Given the description of an element on the screen output the (x, y) to click on. 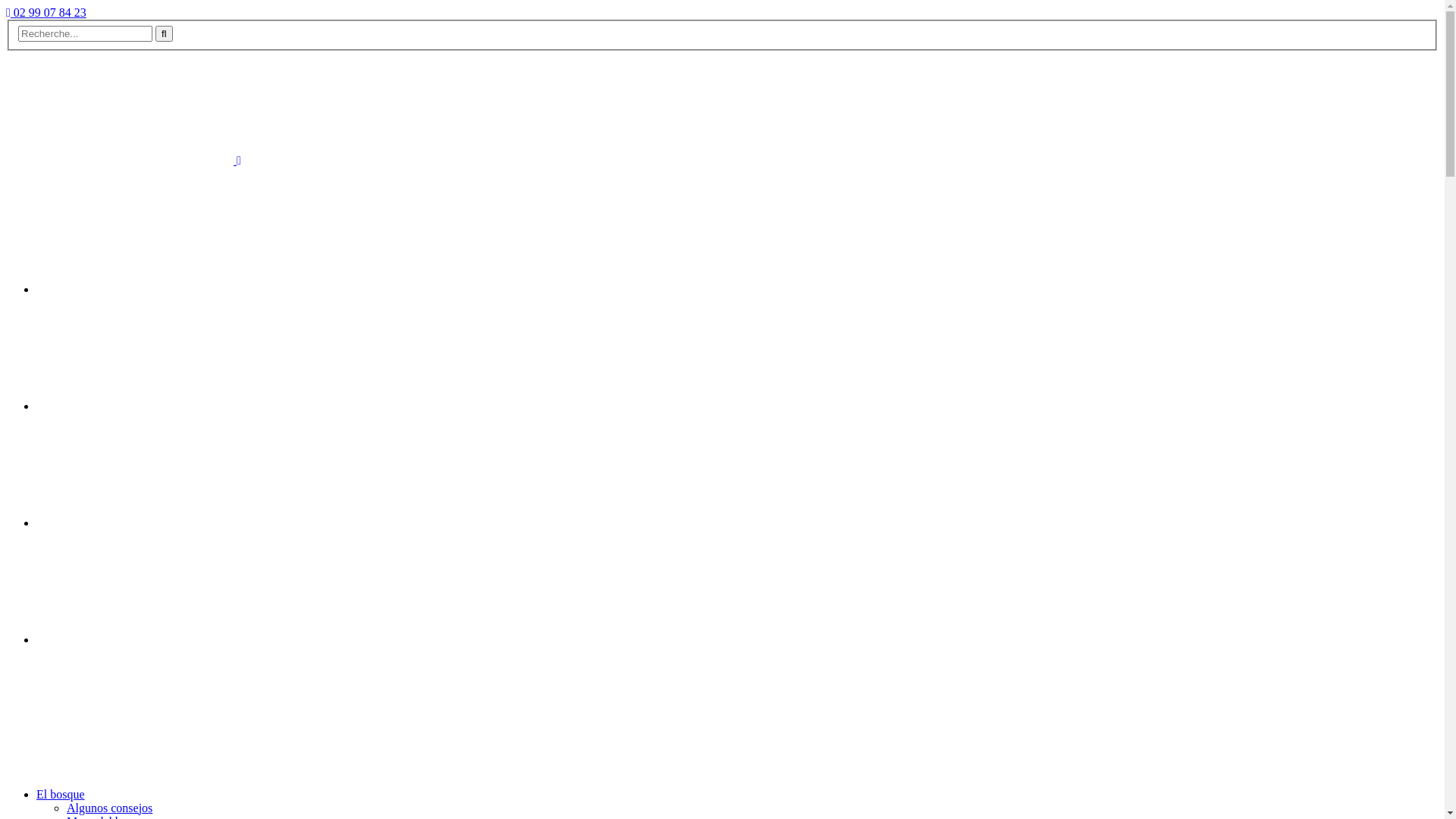
El bosque Element type: text (60, 793)
02 99 07 84 23 Element type: text (46, 12)
Algunos consejos Element type: text (109, 807)
